Given the description of an element on the screen output the (x, y) to click on. 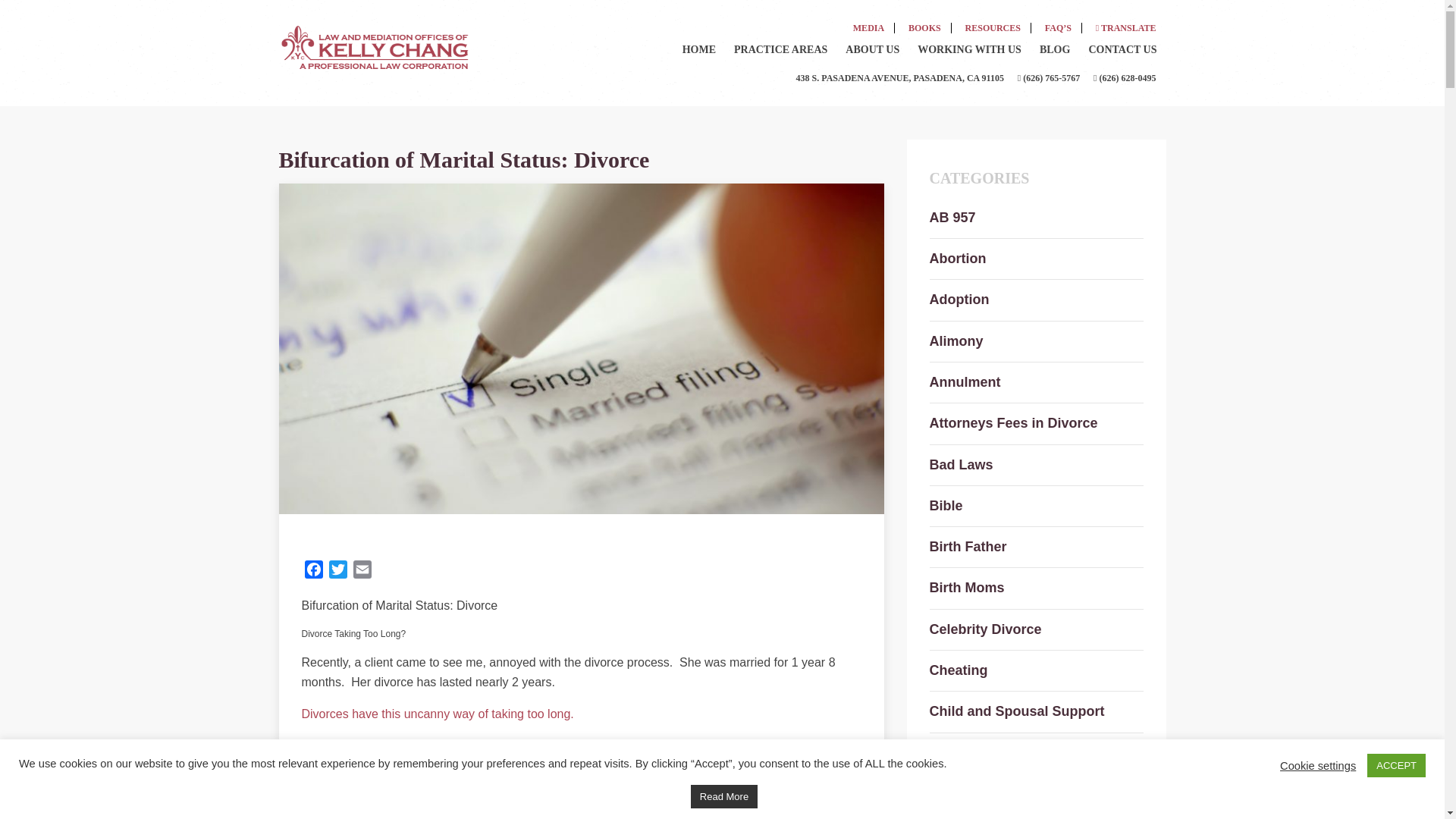
PRACTICE AREAS (780, 50)
Los Angeles Adoption Lawyer - Los Angeles Divorce Lawyer (373, 45)
MEDIA (869, 27)
BOOKS (925, 27)
HOME (698, 50)
TRANSLATE (1125, 27)
RESOURCES (992, 27)
